Given the description of an element on the screen output the (x, y) to click on. 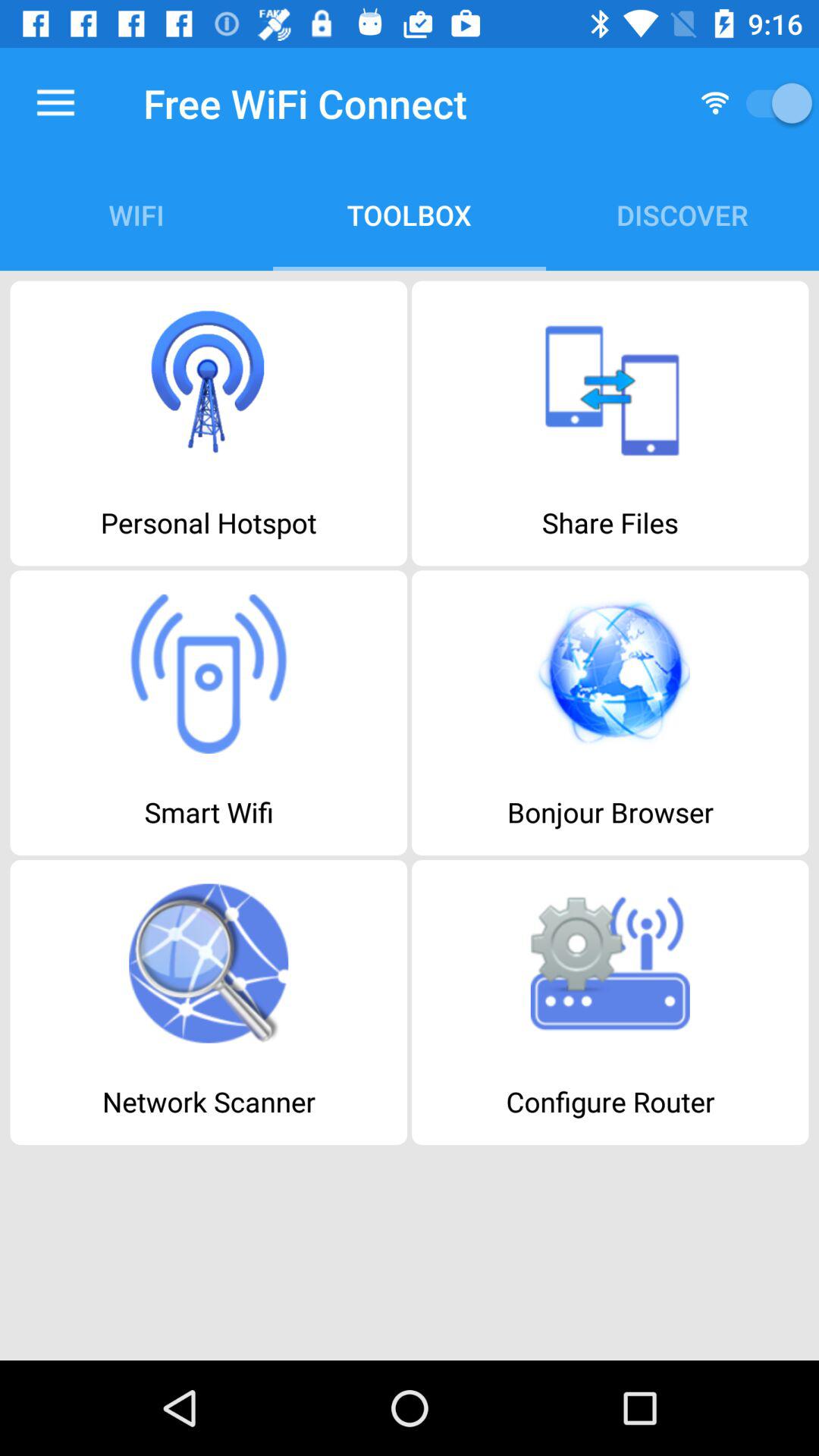
switch on/off wifi (773, 103)
